Given the description of an element on the screen output the (x, y) to click on. 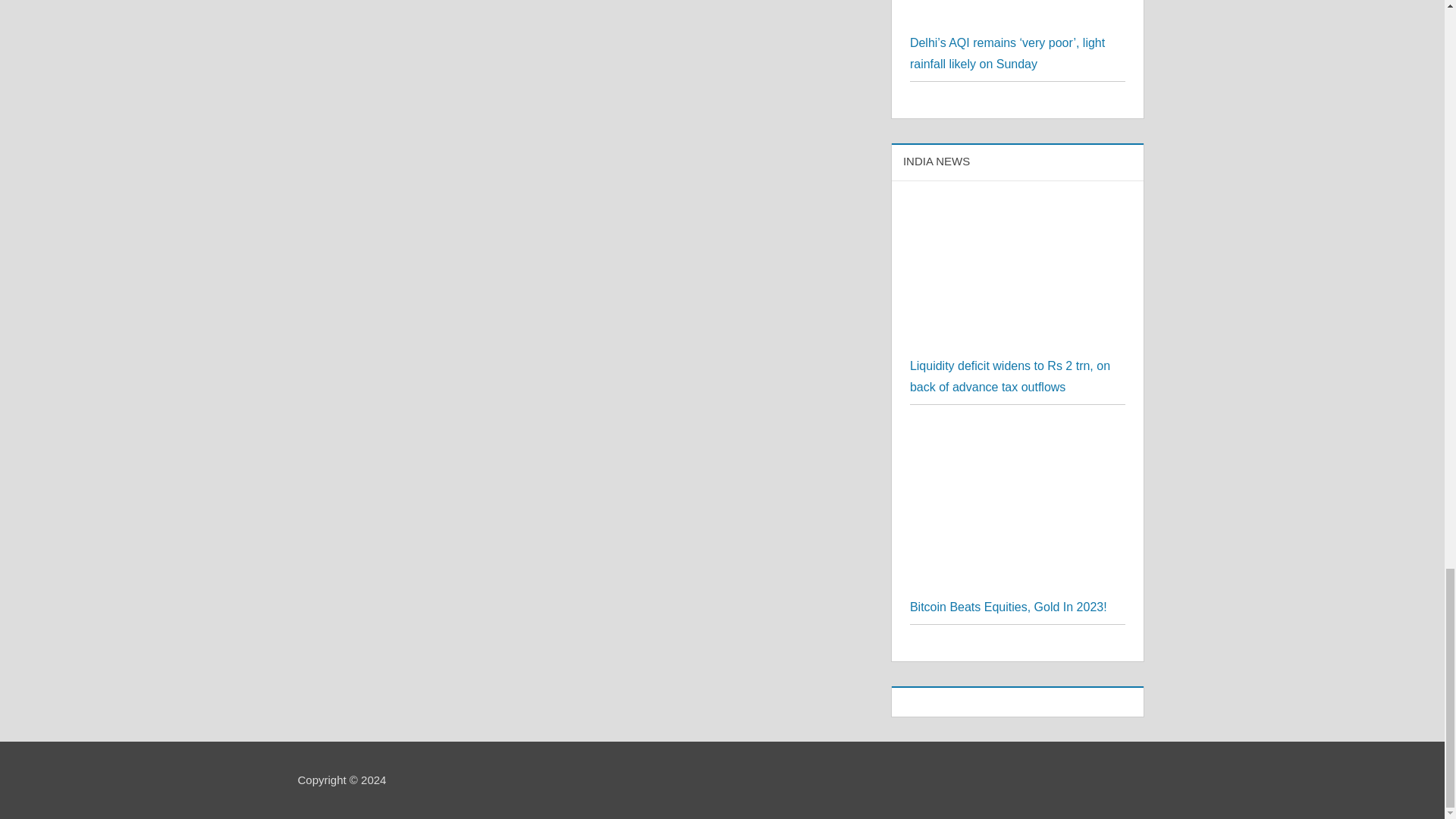
Bitcoin Beats Equities, Gold In 2023! (1017, 432)
Bitcoin Beats Equities, Gold In 2023! (1017, 510)
Bitcoin Beats Equities, Gold In 2023! (1008, 606)
